Given the description of an element on the screen output the (x, y) to click on. 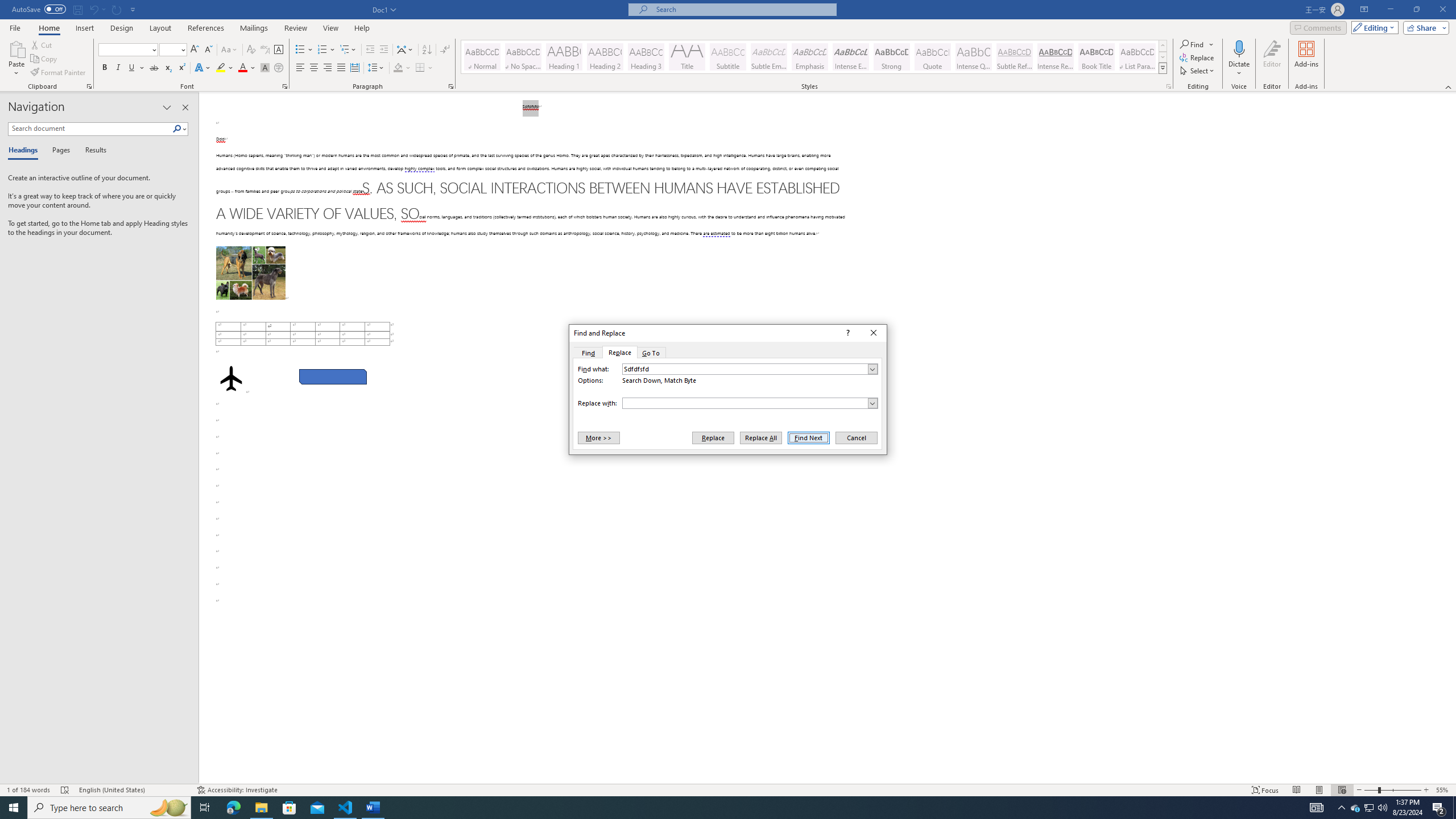
Text Effects and Typography (202, 67)
Class: MsoCommandBar (728, 789)
Close (873, 333)
Replace (619, 352)
Layout (160, 28)
Paragraph... (450, 85)
Results (91, 150)
Open (182, 49)
Numbering (326, 49)
Class: NetUIScrollBar (1450, 437)
Subscript (167, 67)
Start (13, 807)
Italic (118, 67)
Find (727, 404)
